Given the description of an element on the screen output the (x, y) to click on. 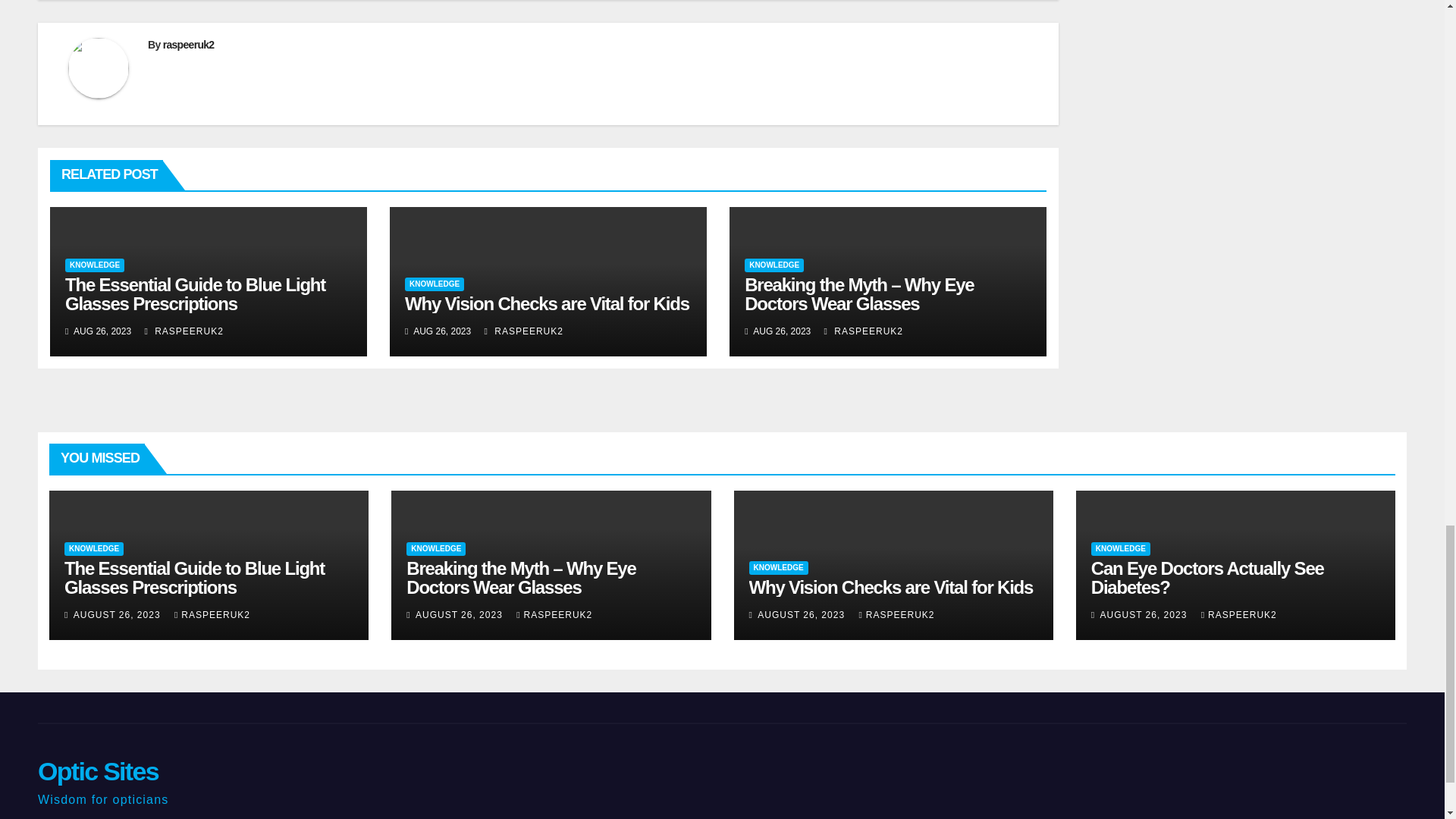
Permalink to: Why Vision Checks are Vital for Kids (546, 303)
KNOWLEDGE (434, 284)
RASPEERUK2 (183, 330)
Permalink to: Why Vision Checks are Vital for Kids (891, 587)
Why Vision Checks are Vital for Kids (546, 303)
Permalink to: Can Eye Doctors Actually See Diabetes? (1206, 577)
RASPEERUK2 (863, 330)
RASPEERUK2 (523, 330)
The Essential Guide to Blue Light Glasses Prescriptions (194, 293)
KNOWLEDGE (773, 264)
KNOWLEDGE (94, 264)
raspeeruk2 (188, 44)
